Given the description of an element on the screen output the (x, y) to click on. 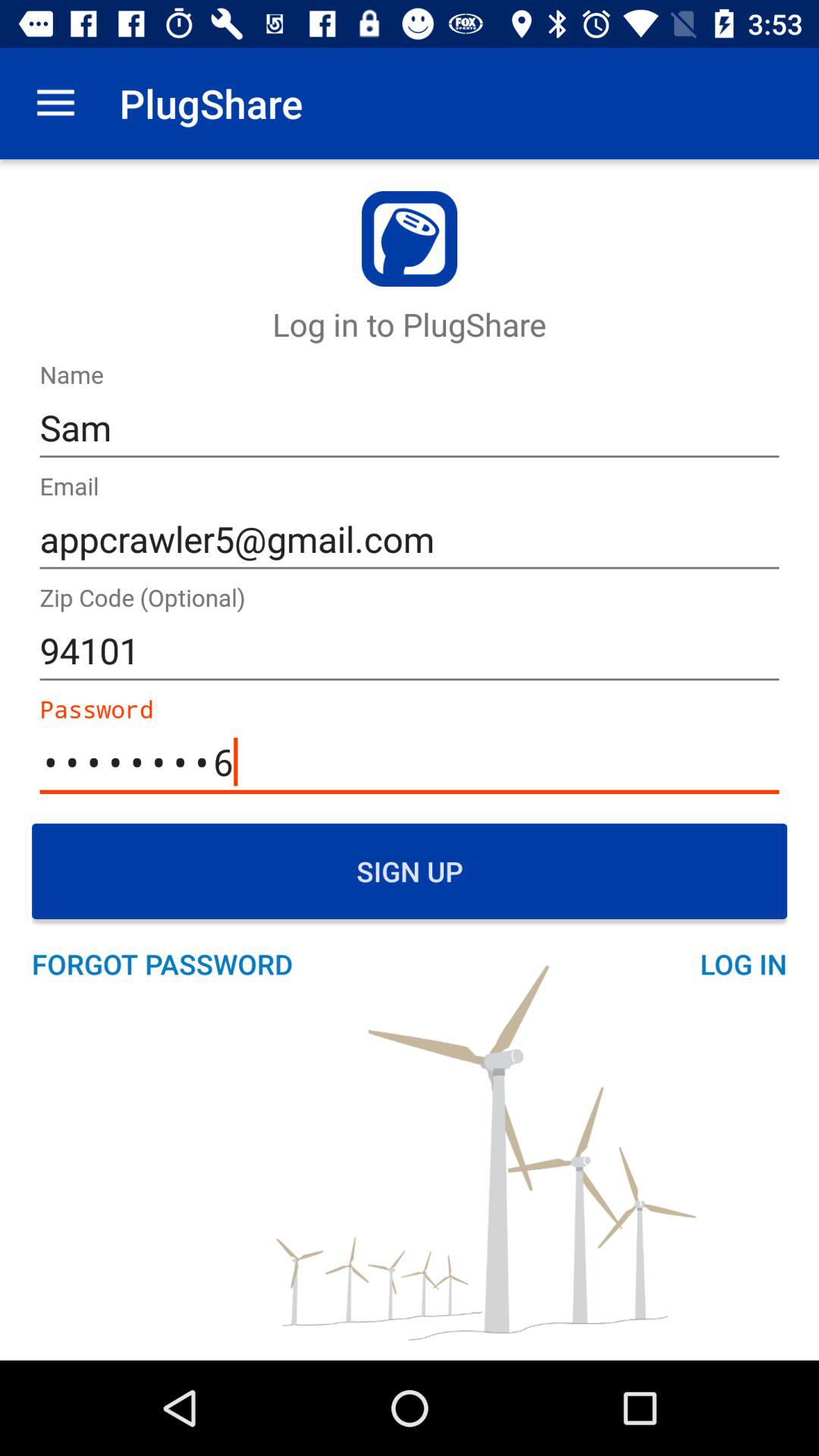
click item below the log in to (409, 428)
